Given the description of an element on the screen output the (x, y) to click on. 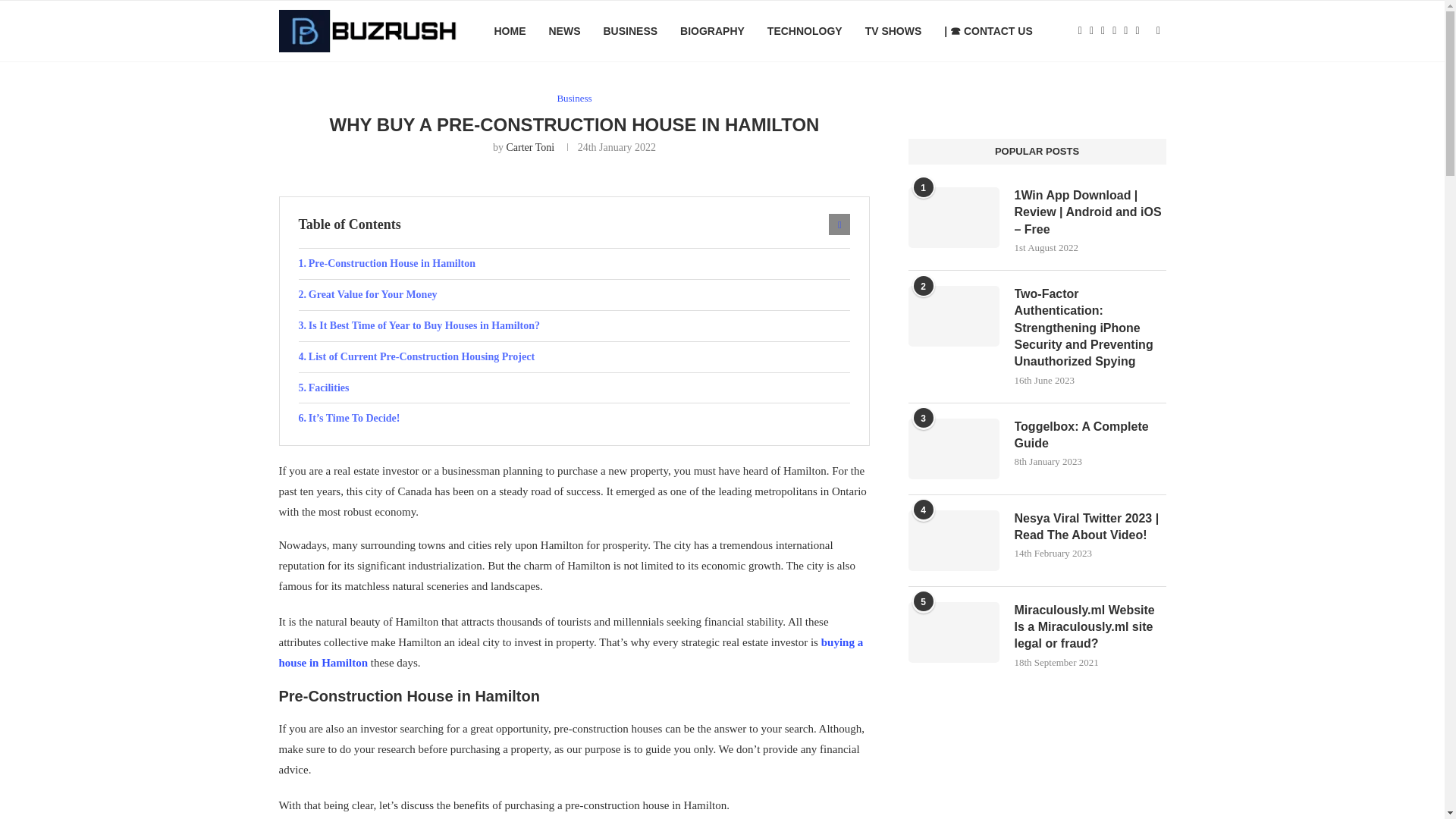
Pre-Construction House in Hamilton (574, 263)
Facilities (574, 388)
BUSINESS (630, 30)
Carter Toni (529, 147)
buying a house in Hamilton (571, 652)
Is It Best Time of Year to Buy Houses in Hamilton? (574, 326)
Pre-Construction House in Hamilton (574, 263)
Business (573, 98)
List of Current Pre-Construction Housing Project (574, 357)
List of Current Pre-Construction Housing Project (574, 357)
